Given the description of an element on the screen output the (x, y) to click on. 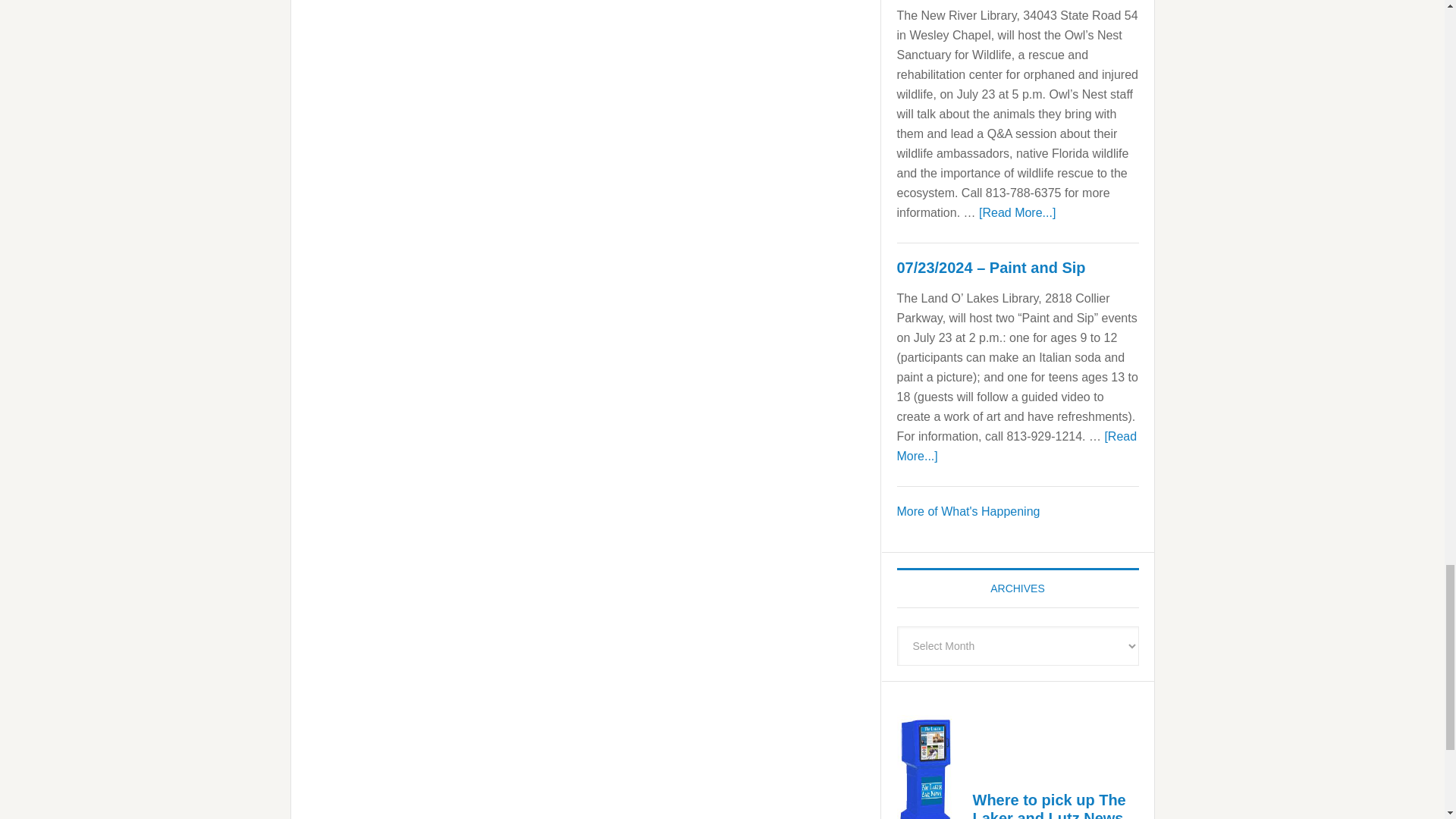
What's Happening (967, 511)
